Given the description of an element on the screen output the (x, y) to click on. 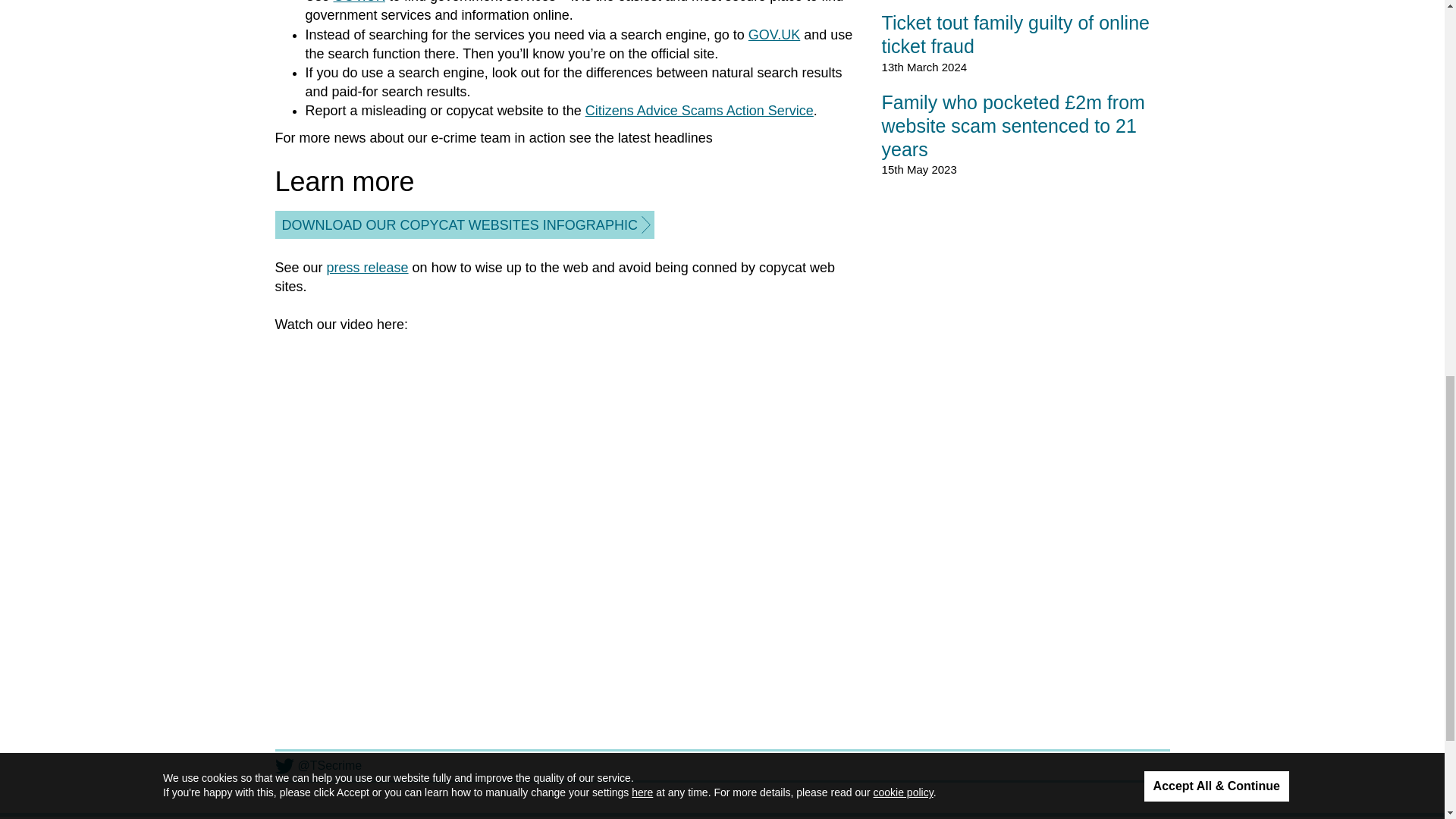
DOWNLOAD OUR COPYCAT WEBSITES INFOGRAPHIC (464, 224)
press release (367, 267)
GOV.UK (359, 2)
GOV.UK (773, 34)
Citizens Advice Scams Action Service (699, 110)
